Given the description of an element on the screen output the (x, y) to click on. 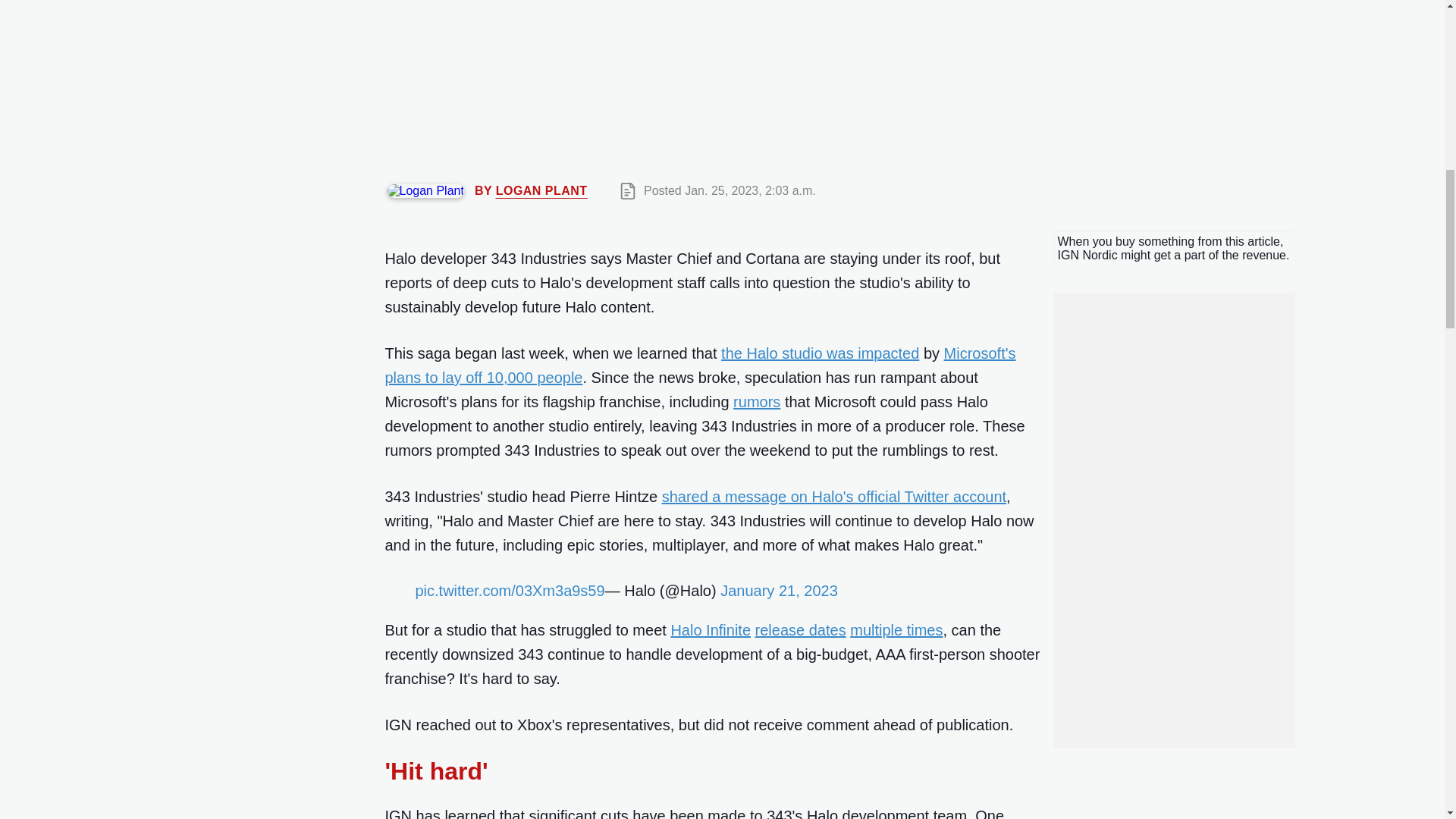
LOGAN PLANT (542, 190)
the Halo studio was impacted (819, 352)
